Given the description of an element on the screen output the (x, y) to click on. 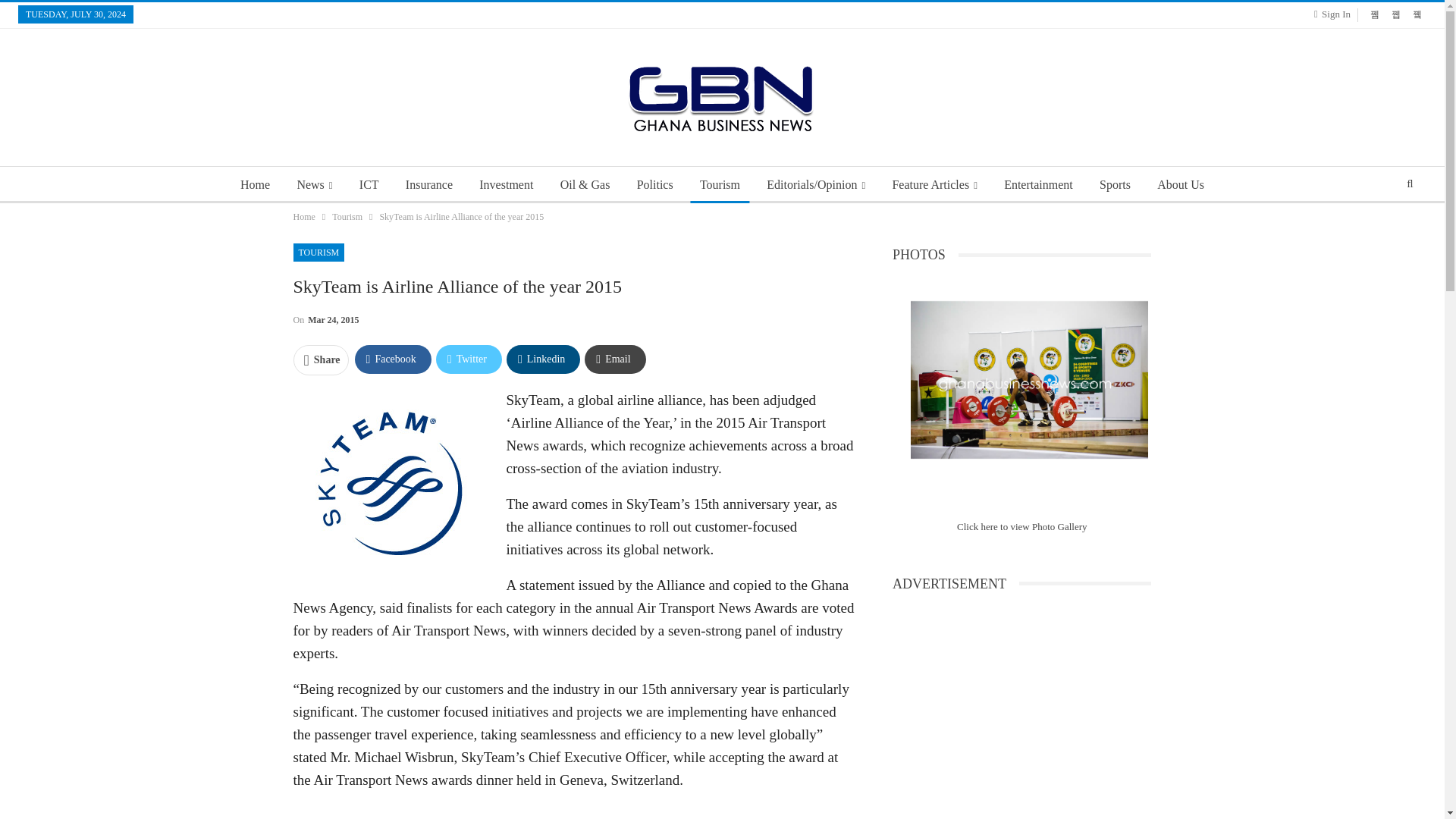
Insurance (428, 185)
Home (255, 185)
Twitter (468, 358)
Email (615, 358)
Tourism (346, 216)
Tourism (719, 185)
Feature Articles (934, 185)
ICT (369, 185)
Sports (1115, 185)
Linkedin (542, 358)
Sign In (1335, 13)
TOURISM (317, 252)
Click here to view Photo Gallery (1021, 526)
Home (303, 216)
13th-African-games-85 (1029, 380)
